Given the description of an element on the screen output the (x, y) to click on. 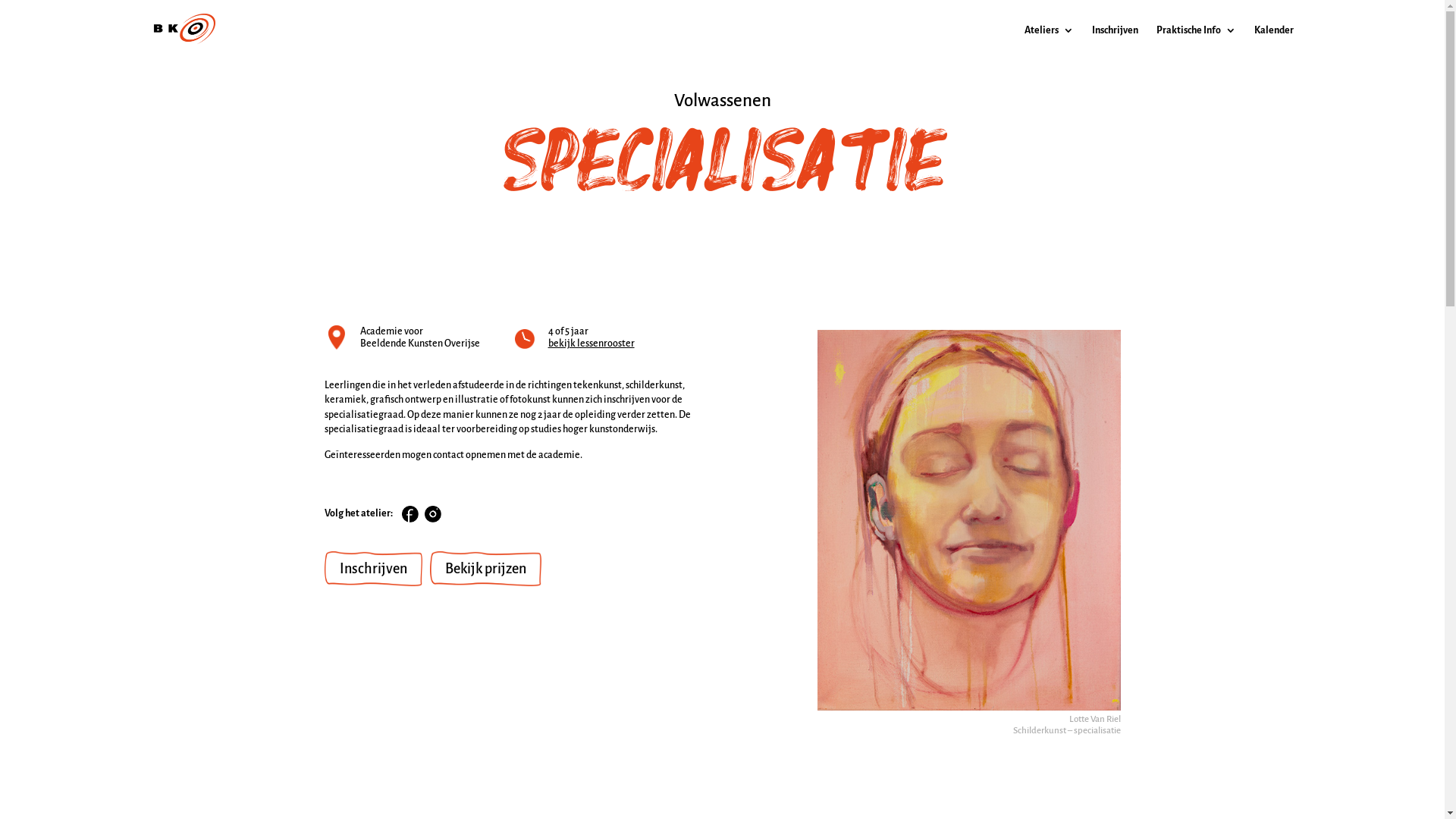
Academie voor Element type: text (390, 331)
Ateliers Element type: text (1048, 42)
Specialisatie - Helen O'Sullivan Element type: hover (968, 519)
Bekijk prijzen Element type: text (484, 568)
Kalender Element type: text (1273, 42)
Follow on Instagram Element type: hover (432, 513)
Inschrijven Element type: text (1115, 42)
Follow on Facebook Element type: hover (409, 513)
Beeldende Kunsten Overijse Element type: text (419, 343)
Volwassenen Element type: text (721, 100)
bekijk lessenrooster Element type: text (591, 343)
Inschrijven Element type: text (373, 568)
Praktische Info Element type: text (1195, 42)
